Given the description of an element on the screen output the (x, y) to click on. 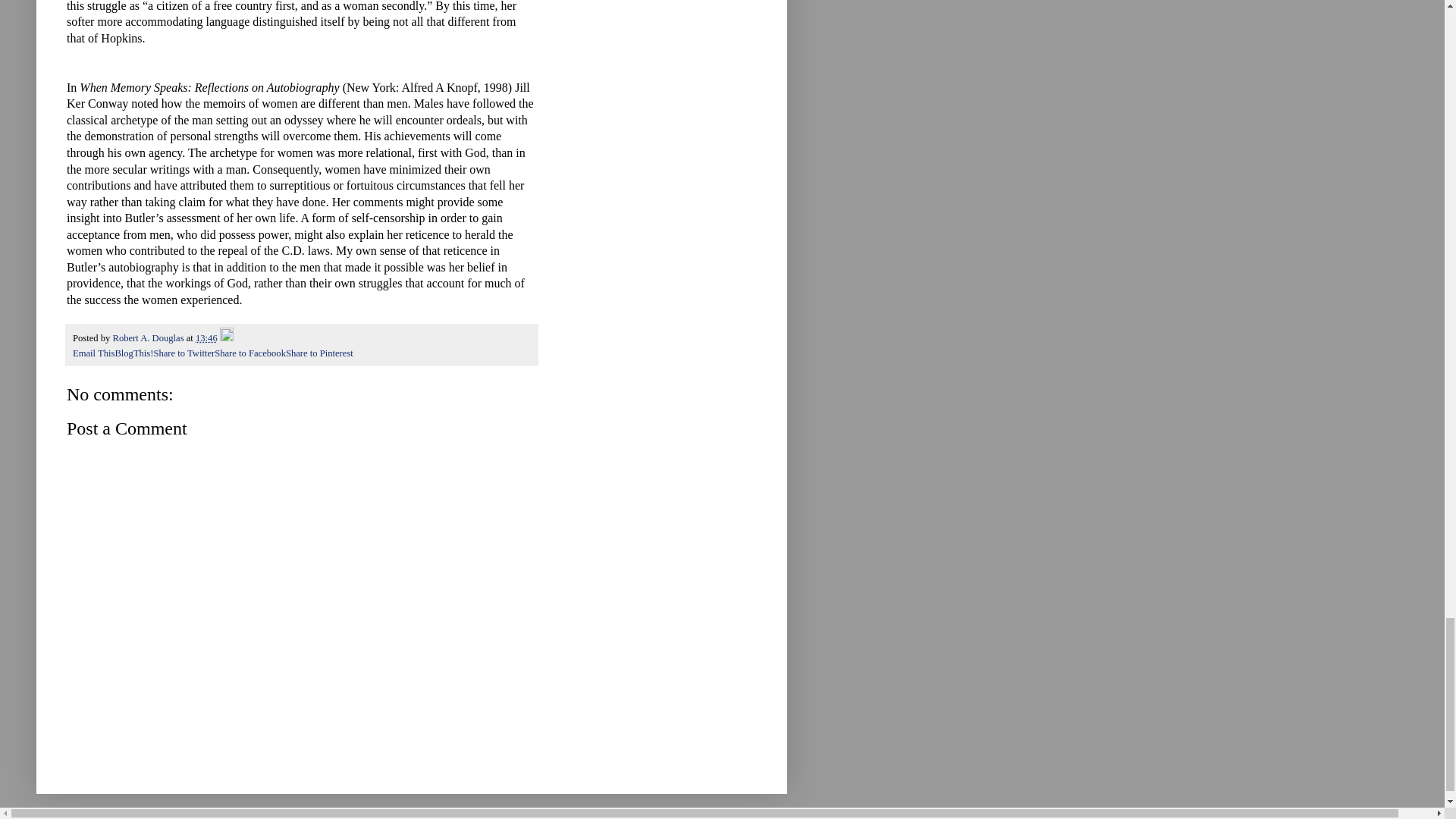
BlogThis! (133, 353)
author profile (149, 337)
Share to Facebook (249, 353)
BlogThis! (133, 353)
Share to Twitter (183, 353)
Email This (93, 353)
Email This (93, 353)
permanent link (205, 337)
Share to Twitter (183, 353)
Robert A. Douglas (149, 337)
Share to Facebook (249, 353)
Share to Pinterest (319, 353)
Edit Post (225, 337)
Share to Pinterest (319, 353)
13:46 (205, 337)
